Given the description of an element on the screen output the (x, y) to click on. 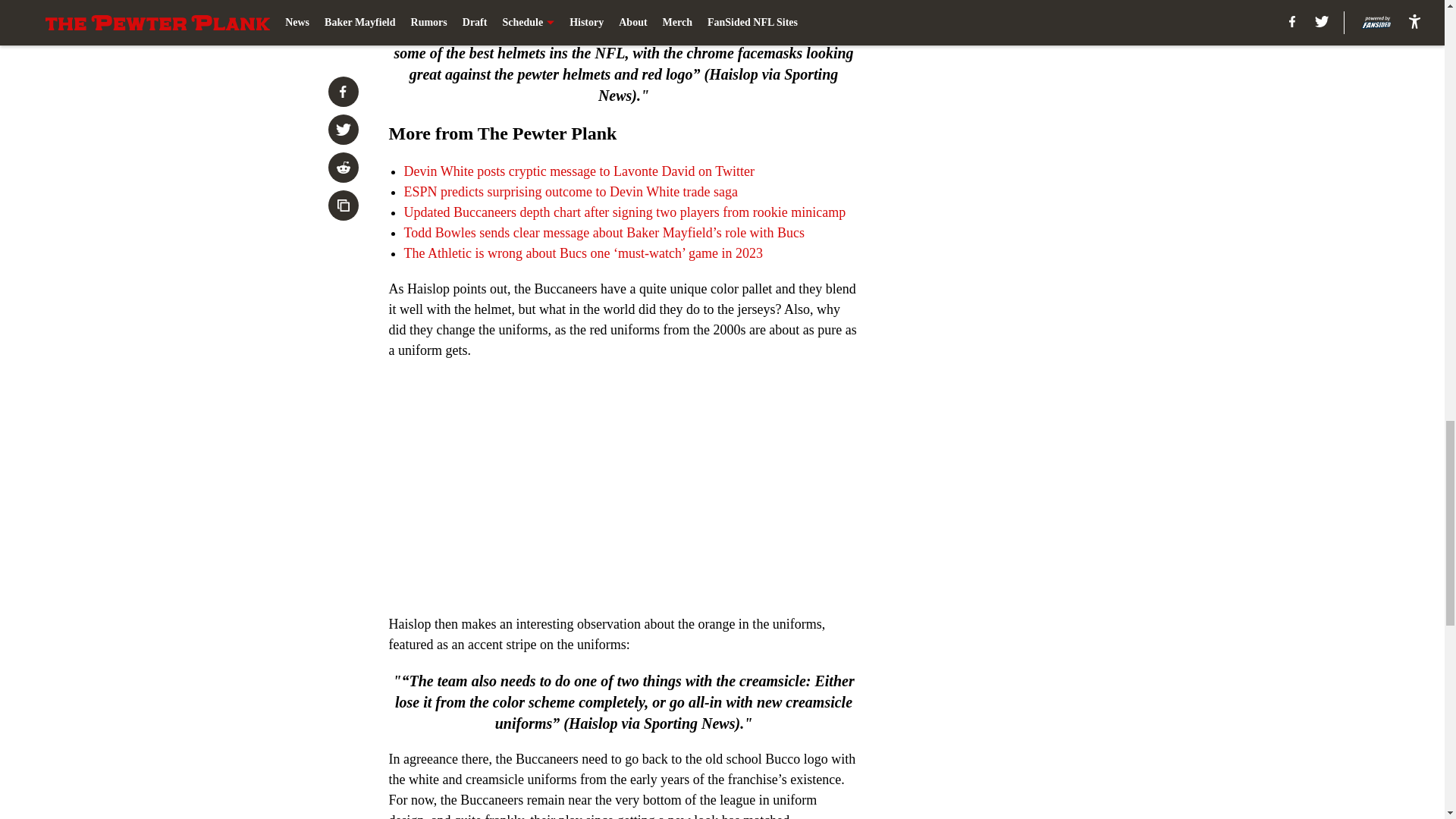
ESPN predicts surprising outcome to Devin White trade saga (570, 191)
